Given the description of an element on the screen output the (x, y) to click on. 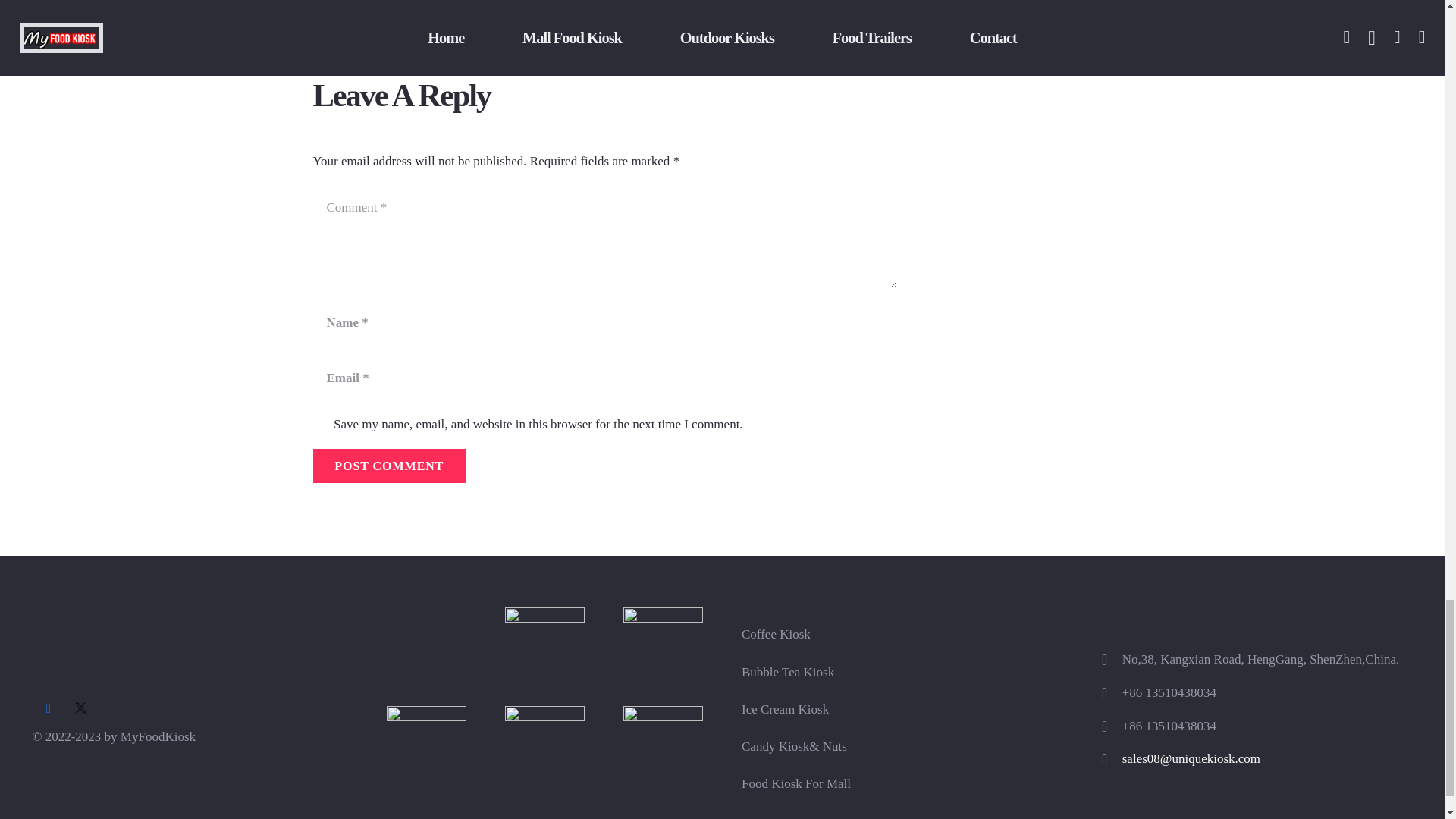
1 (321, 424)
Twitter (80, 708)
Facebook (48, 708)
